Given the description of an element on the screen output the (x, y) to click on. 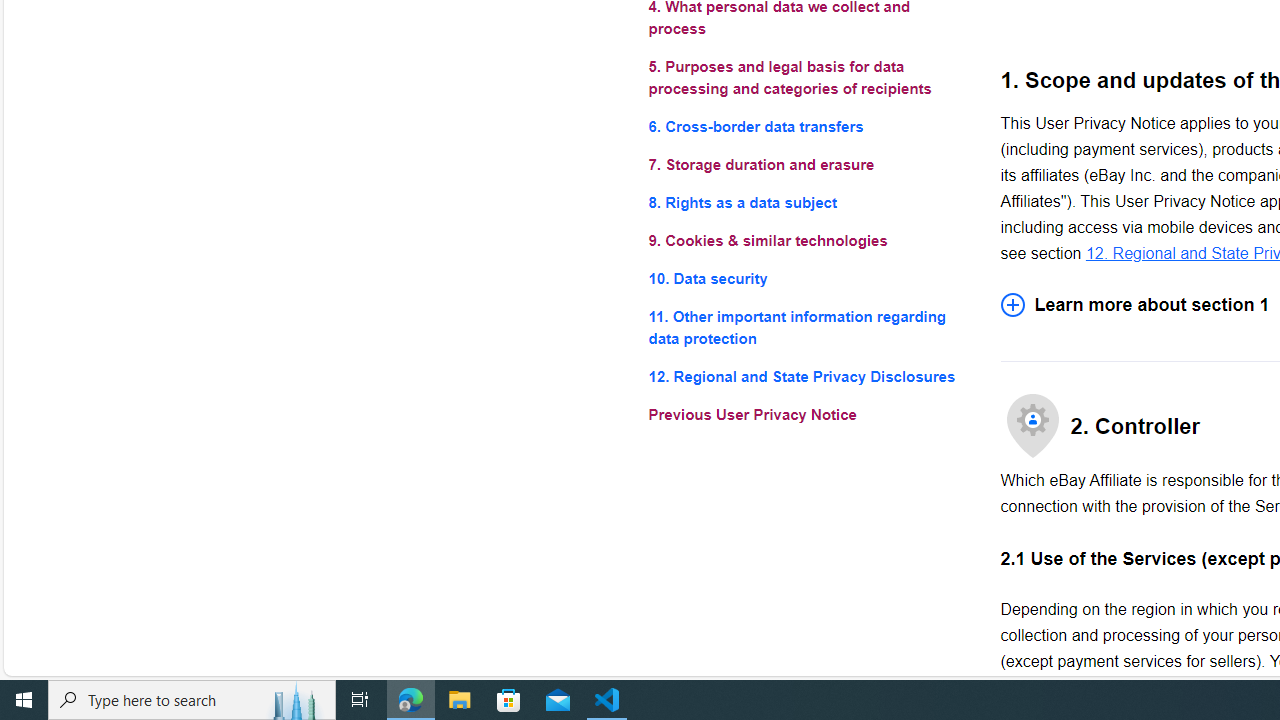
10. Data security (807, 278)
10. Data security (807, 278)
8. Rights as a data subject (807, 203)
